Given the description of an element on the screen output the (x, y) to click on. 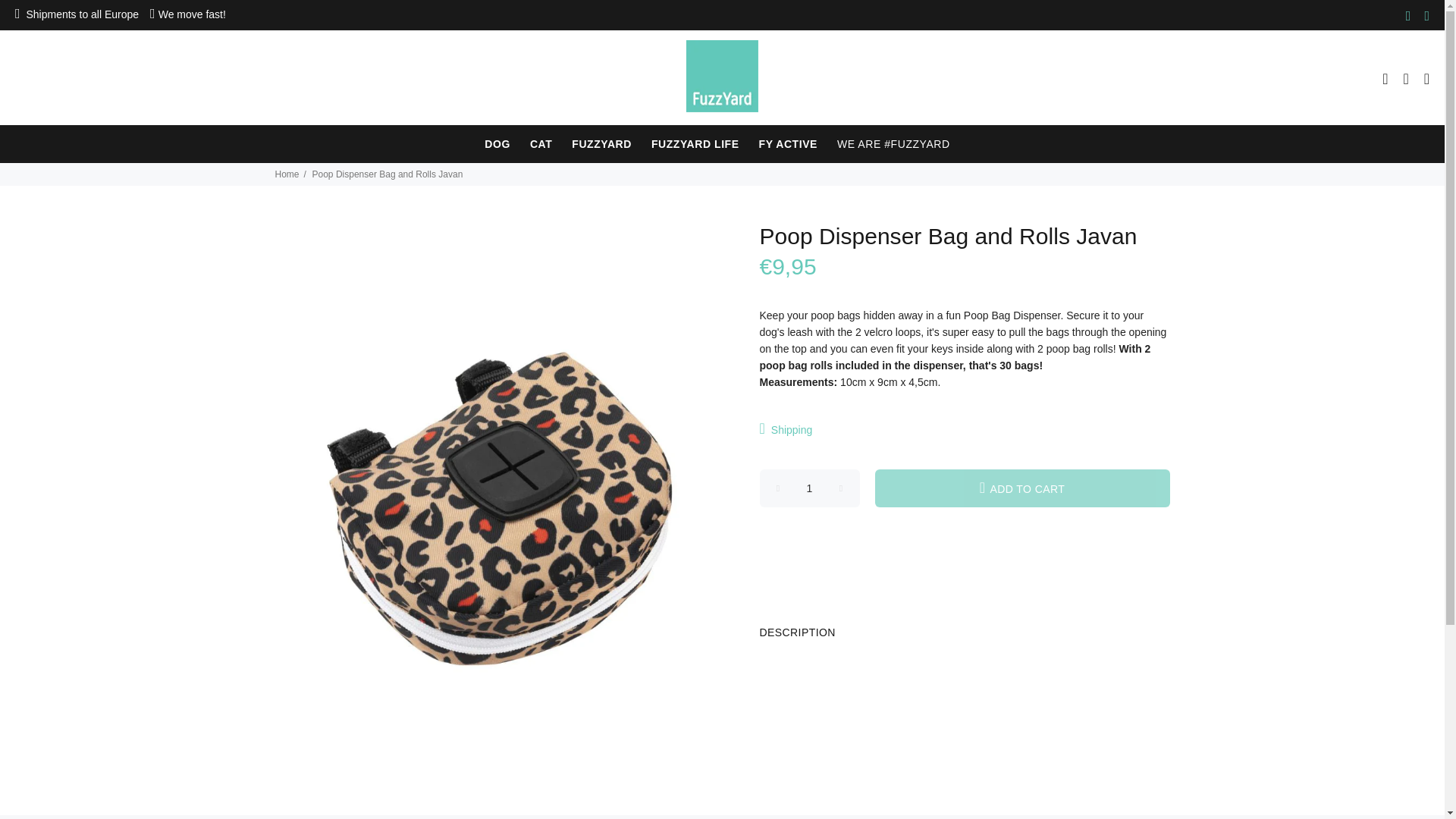
1 (810, 487)
